Given the description of an element on the screen output the (x, y) to click on. 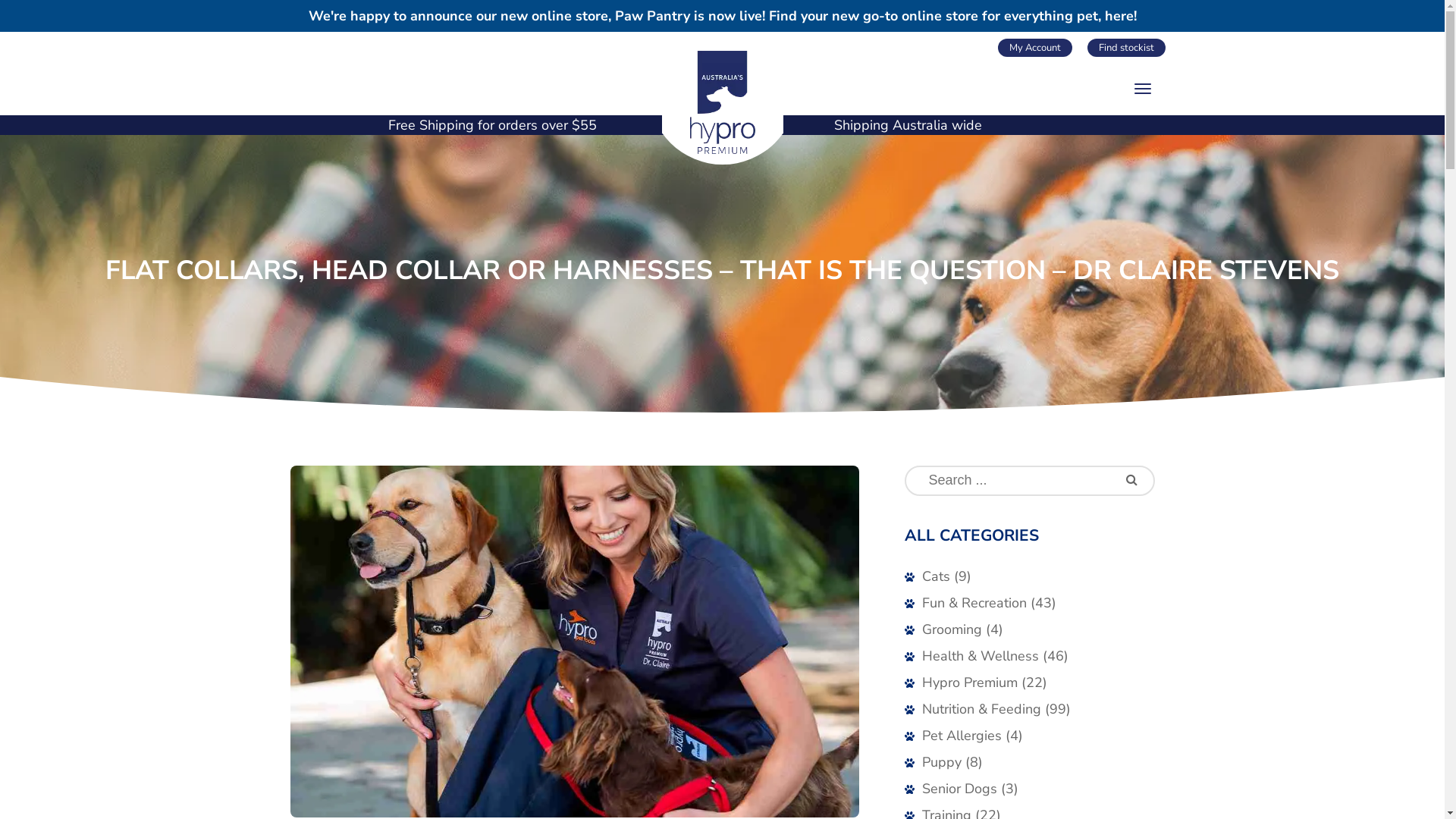
Paw Pantry Element type: text (651, 15)
Hypro Premium Element type: text (969, 682)
Cats Element type: text (936, 576)
Find stockist Element type: text (1126, 47)
Toggle navigation Element type: text (1141, 88)
My Account Element type: text (1034, 47)
Puppy Element type: text (941, 761)
Nutrition & Feeding Element type: text (981, 708)
Senior Dogs Element type: text (959, 788)
here! Element type: text (1119, 15)
Hypro Premium Element type: hover (721, 101)
Health & Wellness Element type: text (980, 655)
Grooming Element type: text (952, 629)
Fun & Recreation Element type: text (974, 602)
Pet Allergies Element type: text (961, 735)
